Given the description of an element on the screen output the (x, y) to click on. 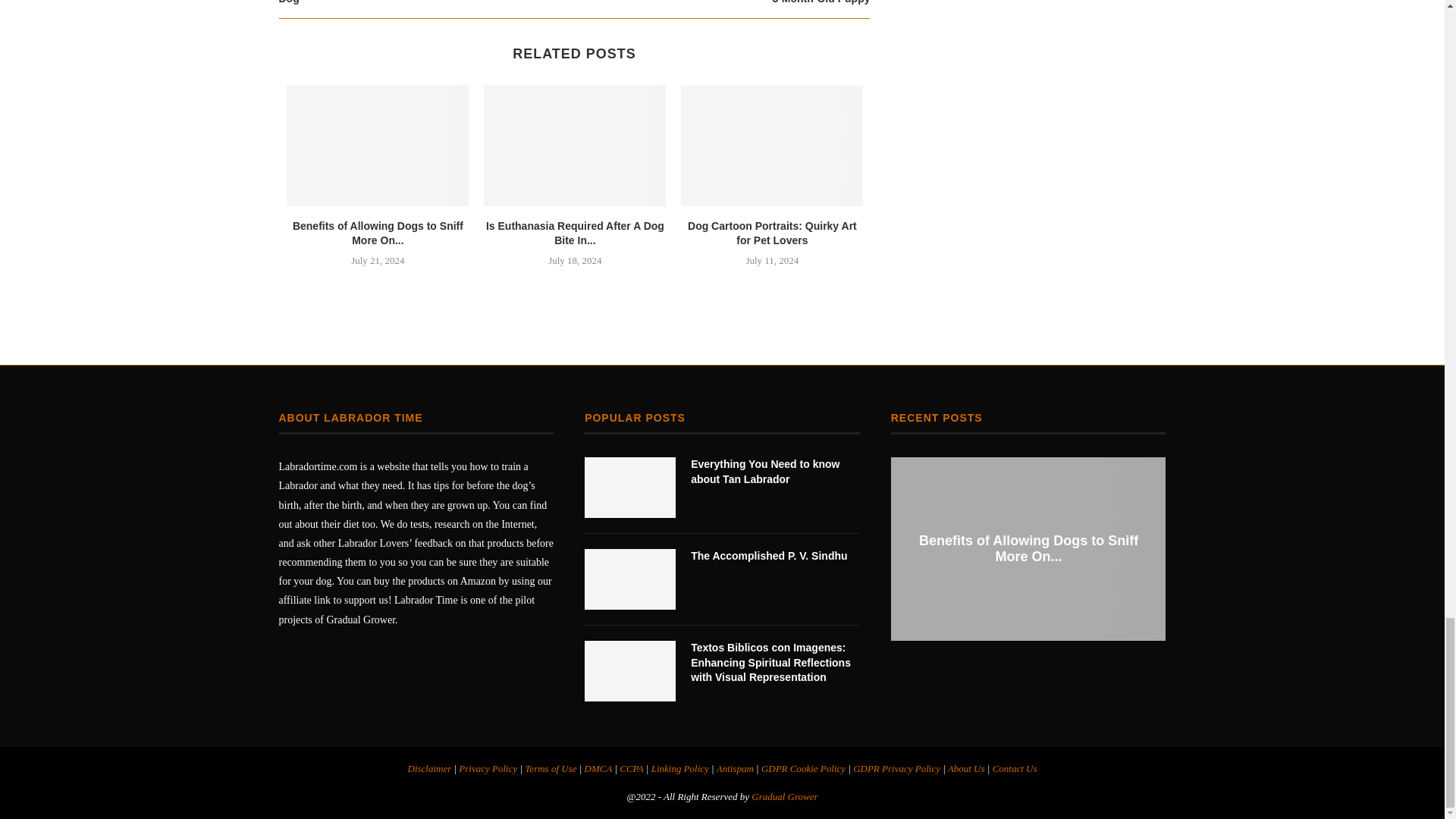
Dog Cartoon Portraits: Quirky Art for Pet Lovers (772, 145)
Benefits of Allowing Dogs to Sniff More On... (377, 233)
Is Euthanasia Required After A Dog Bite In California? (574, 145)
Expert Tips For Labrador: How To Train An Aggressive Dog (427, 3)
Benefits of Allowing Dogs to Sniff More On Walks? (377, 145)
